Given the description of an element on the screen output the (x, y) to click on. 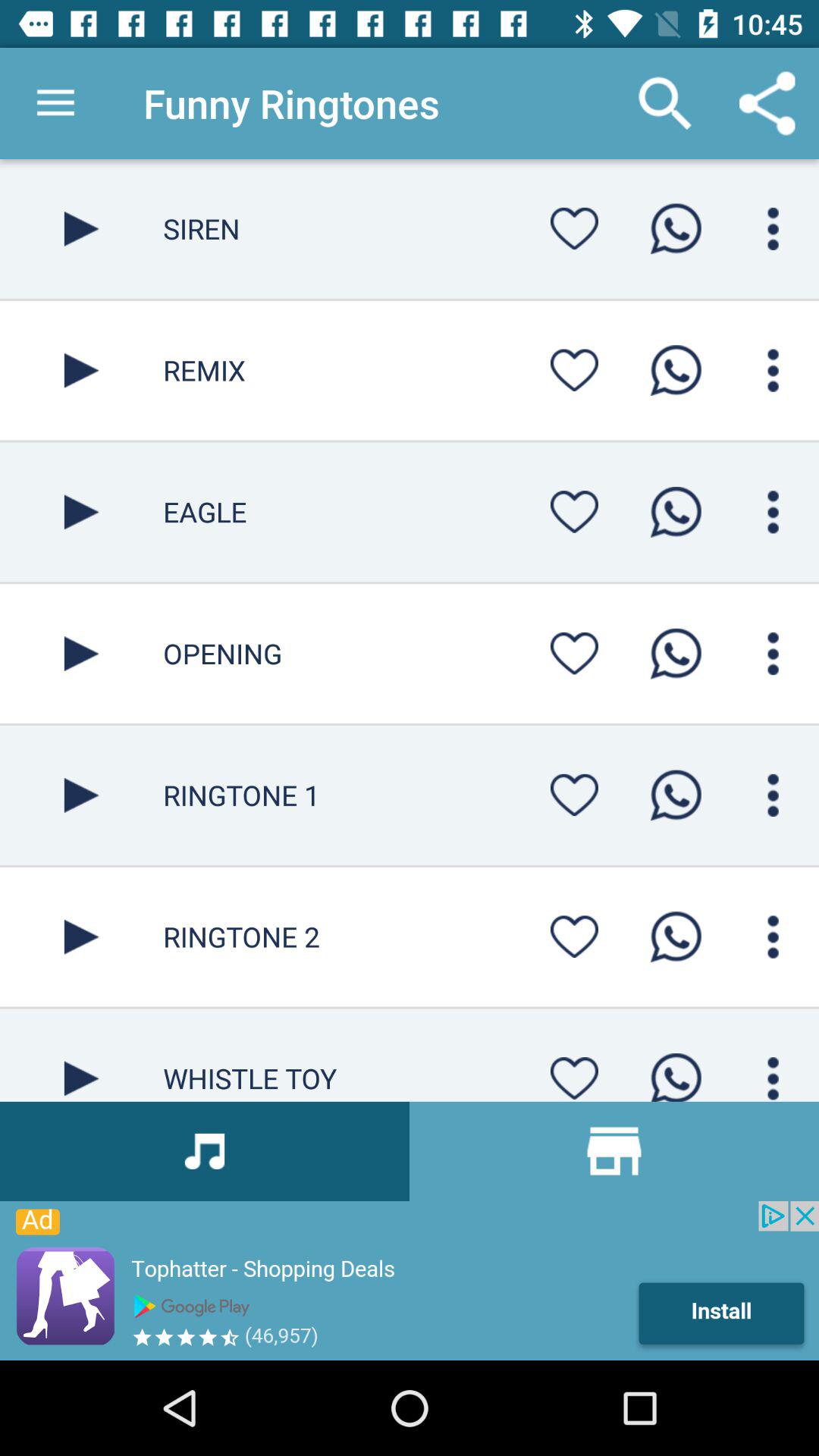
menu selection (773, 511)
